Given the description of an element on the screen output the (x, y) to click on. 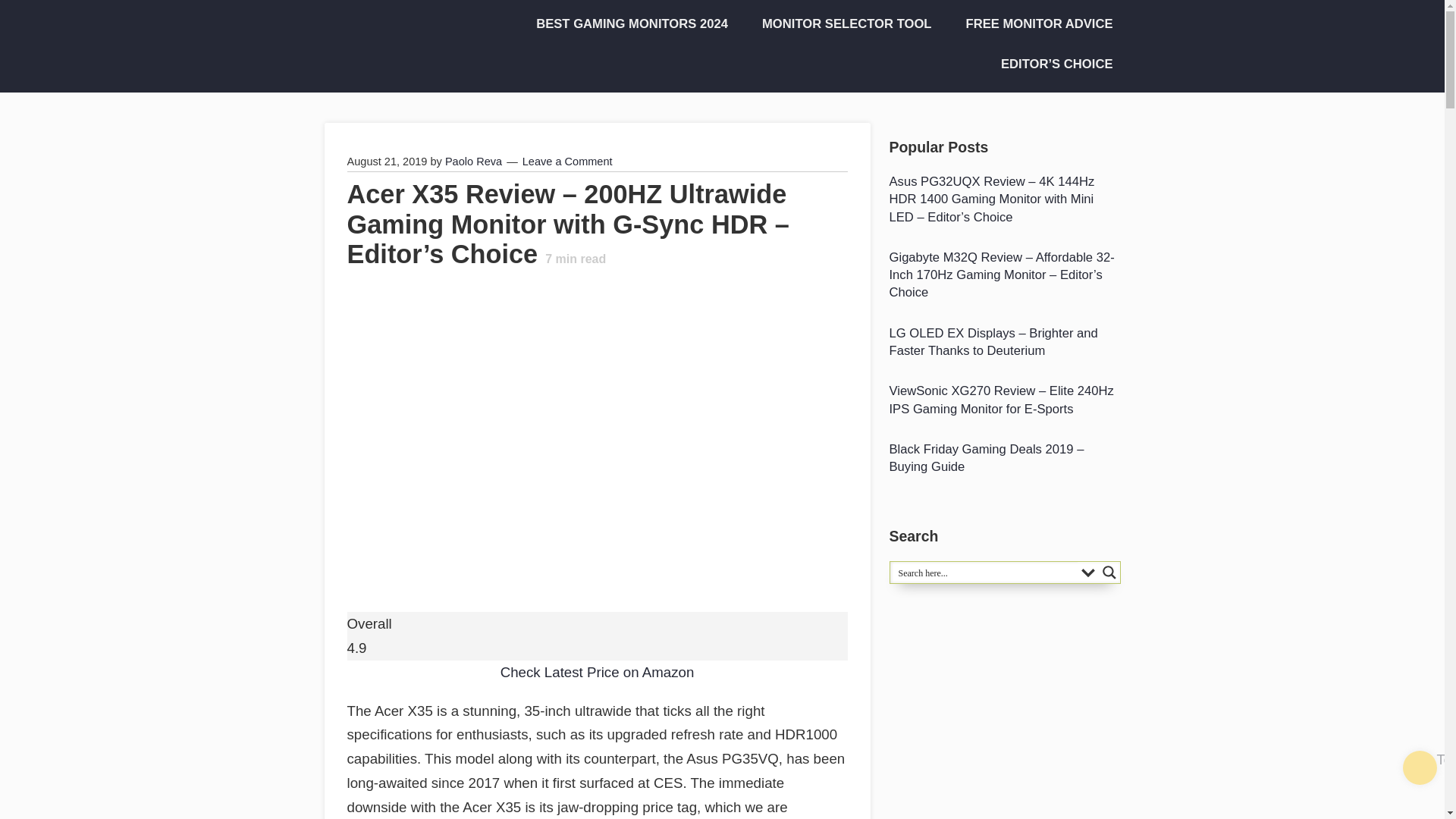
Leave a Comment (567, 161)
Check Latest Price on Amazon (597, 672)
BEST GAMING MONITORS 2024 (626, 24)
Top (1420, 767)
Paolo Reva (473, 161)
Free Gaming Monitor Advice Service (1033, 24)
MONITOR SELECTOR TOOL (841, 24)
Back To Top (1420, 767)
FREE MONITOR ADVICE (1033, 24)
